Given the description of an element on the screen output the (x, y) to click on. 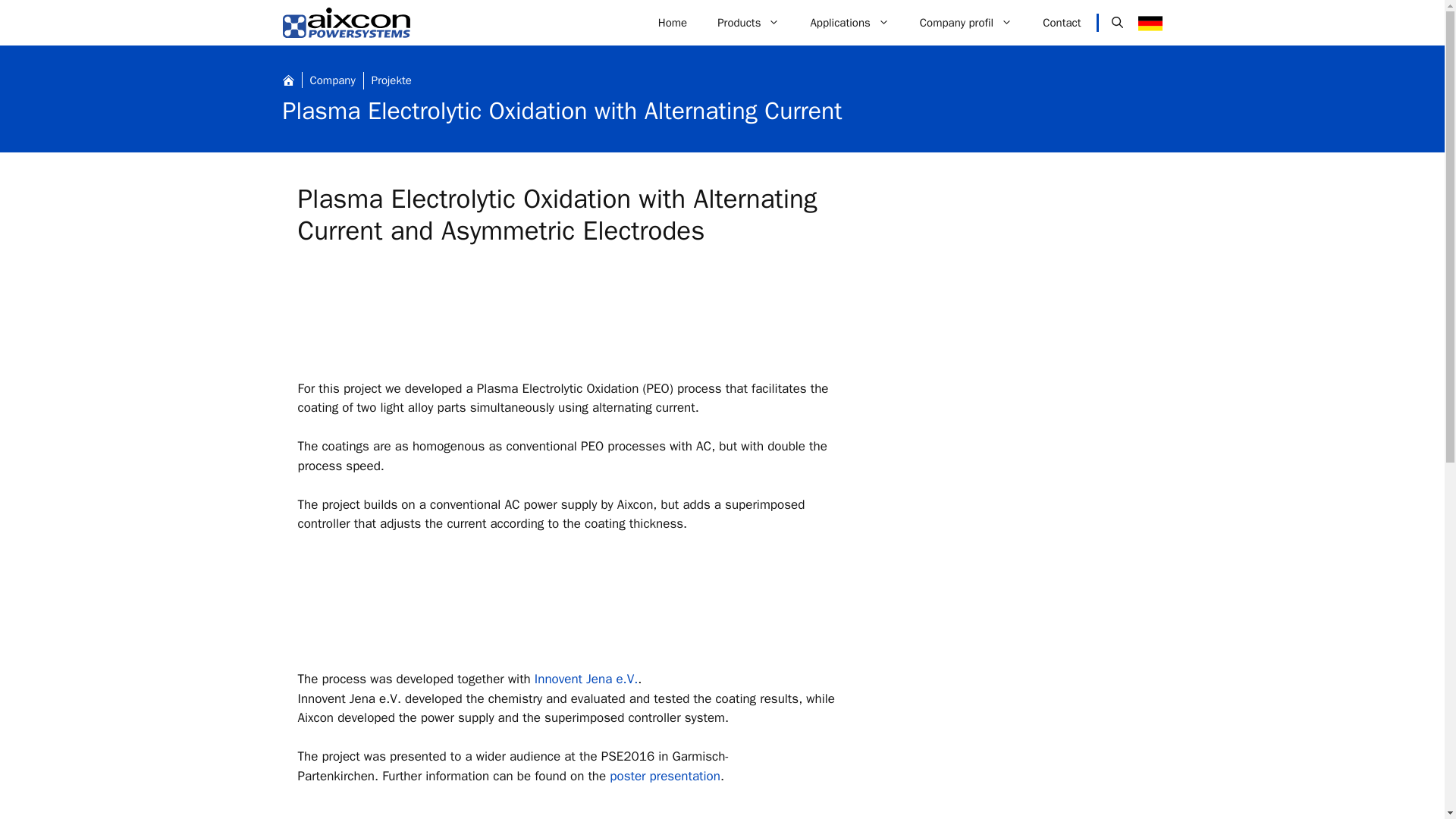
Home (672, 22)
Products (747, 22)
